Given the description of an element on the screen output the (x, y) to click on. 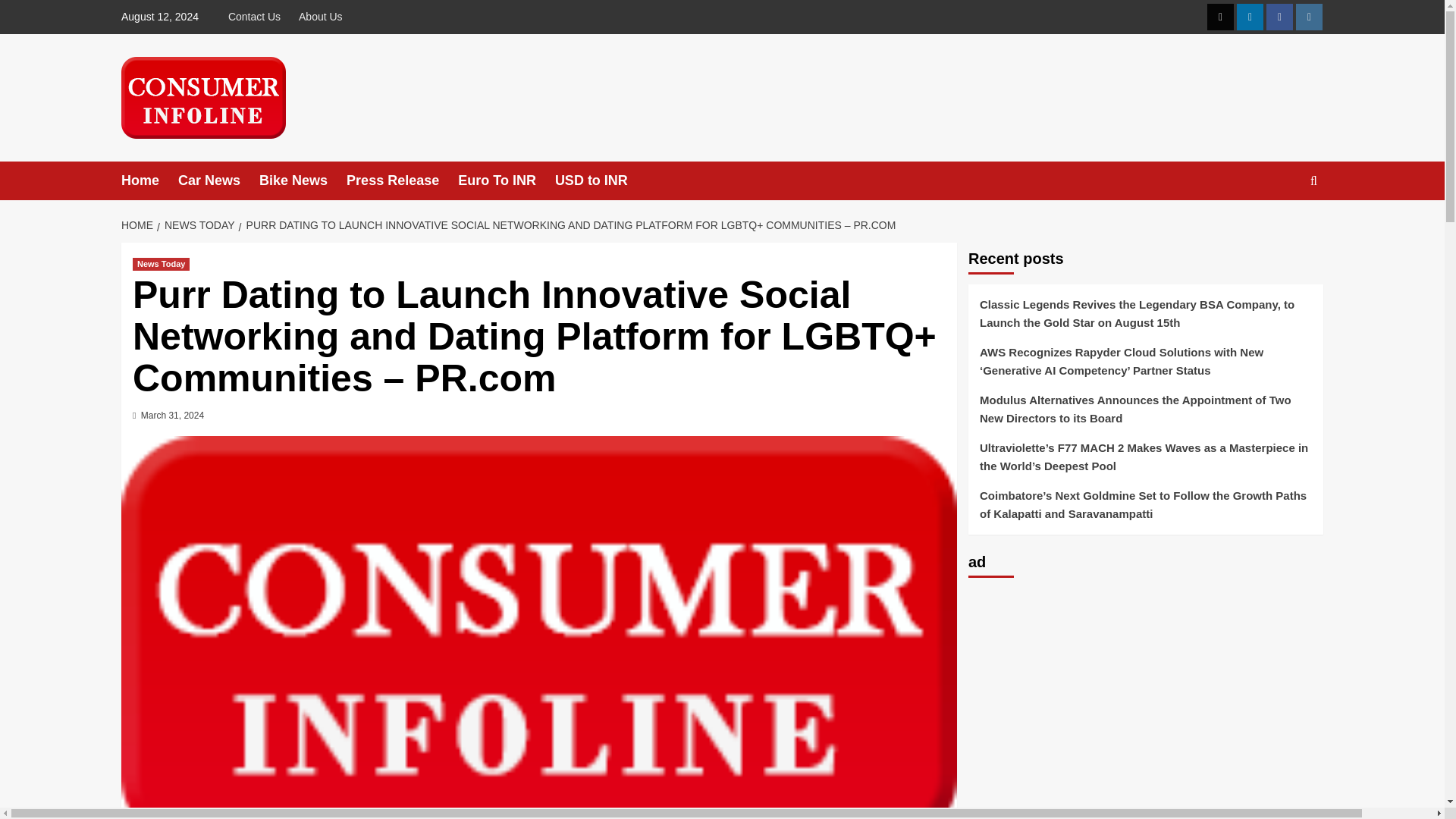
Bike News (302, 180)
Twitter (1220, 17)
HOME (138, 224)
Home (148, 180)
Instagram (1308, 17)
About Us (320, 17)
Car News (218, 180)
Contact Us (258, 17)
NEWS TODAY (197, 224)
March 31, 2024 (172, 415)
